Given the description of an element on the screen output the (x, y) to click on. 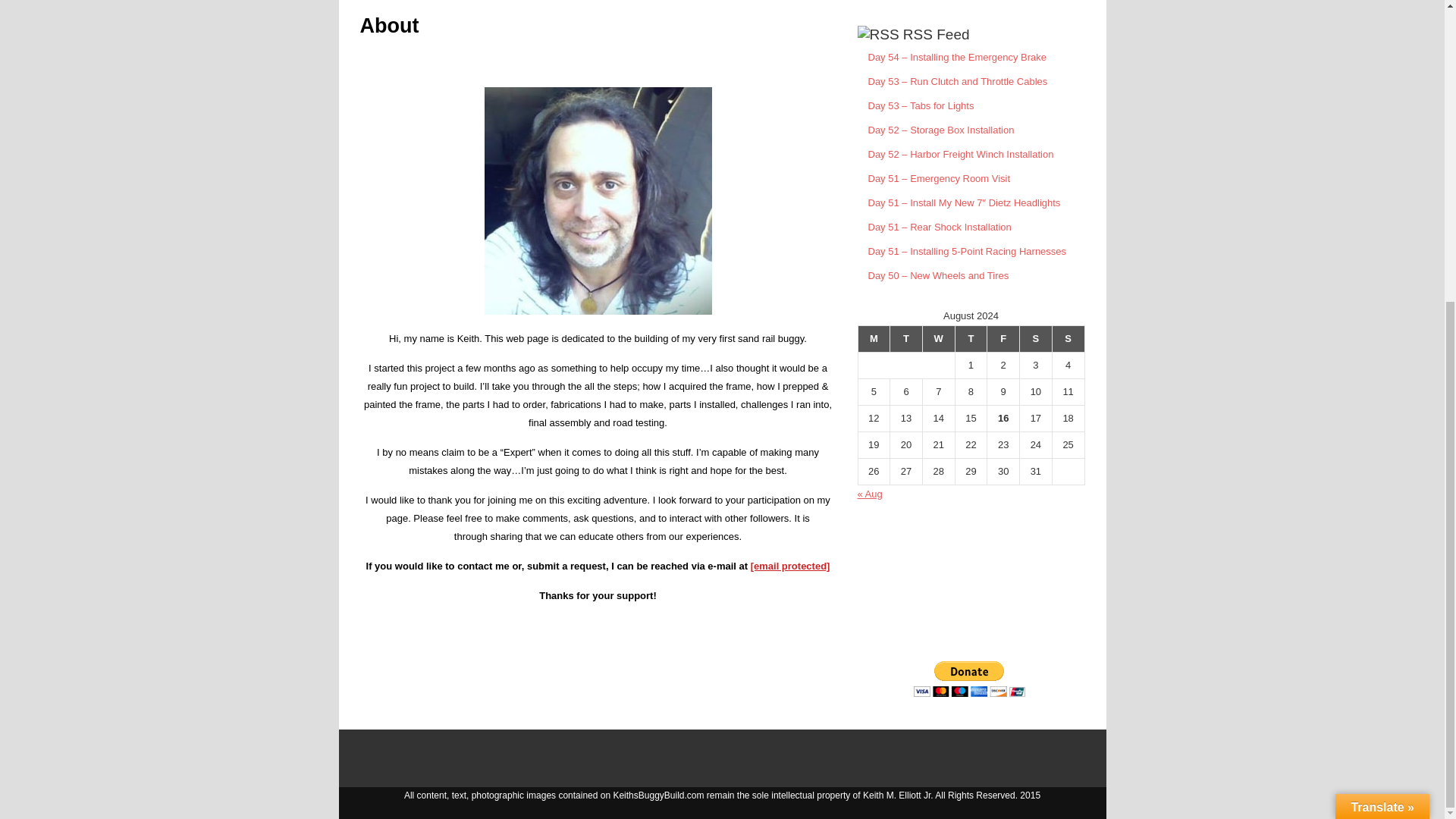
Click Here to donate! (970, 632)
Monday (873, 338)
Friday (1003, 338)
Wednesday (938, 338)
Saturday (1036, 338)
Sunday (1067, 338)
Thursday (971, 338)
RSS Feed (935, 34)
Tuesday (906, 338)
